Given the description of an element on the screen output the (x, y) to click on. 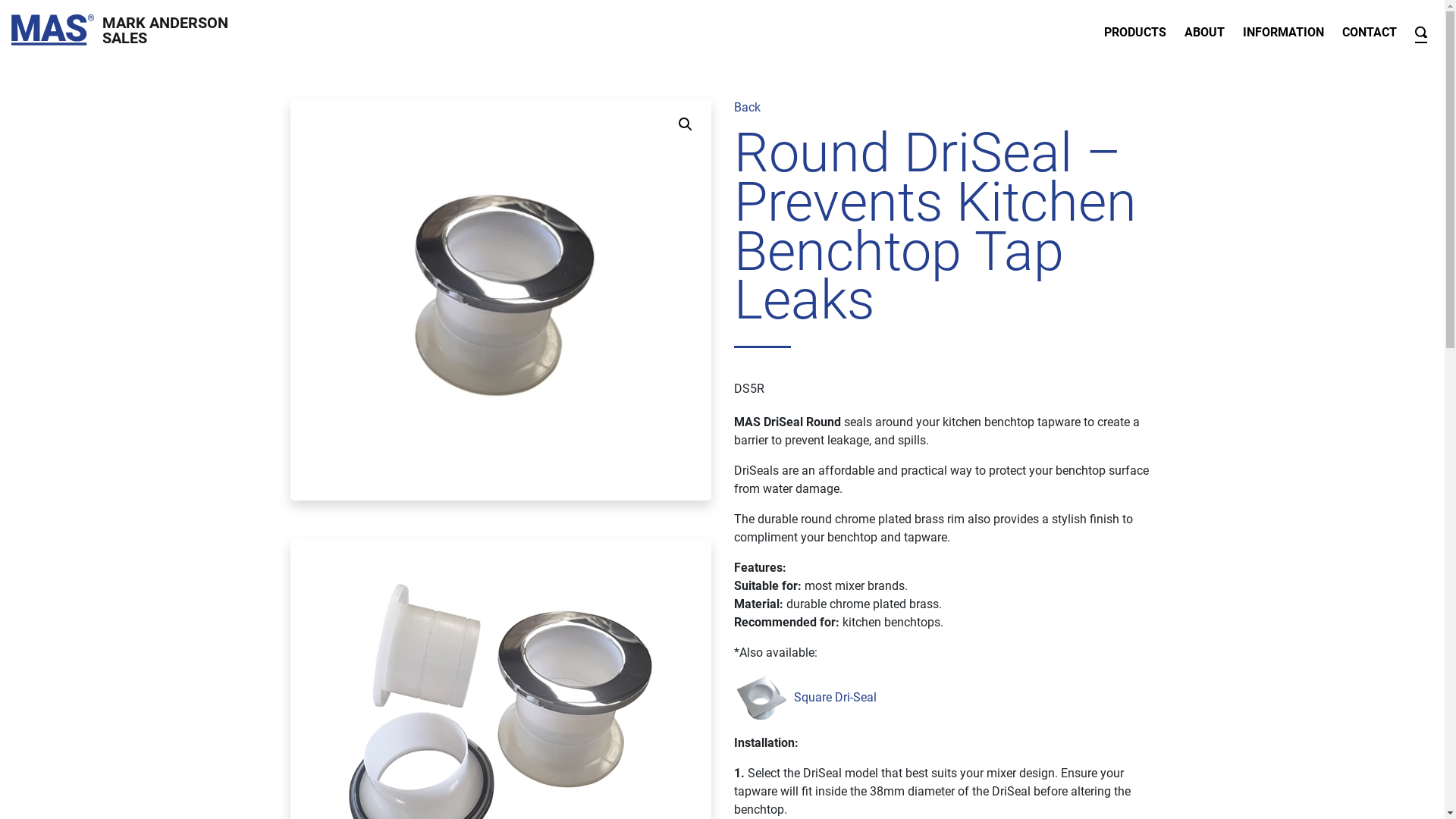
ABOUT Element type: text (1204, 30)
PRODUCTS Element type: text (1135, 30)
Square Dri-Seal Element type: text (834, 697)
INFORMATION Element type: text (1283, 30)
SEARCH Element type: text (1421, 30)
Back Element type: text (747, 107)
MARK ANDERSON
SALES Element type: text (119, 30)
468 Element type: text (61, 14)
round-driseal-tap-seal-barrier Element type: hover (500, 299)
CONTACT Element type: text (1369, 30)
